Given the description of an element on the screen output the (x, y) to click on. 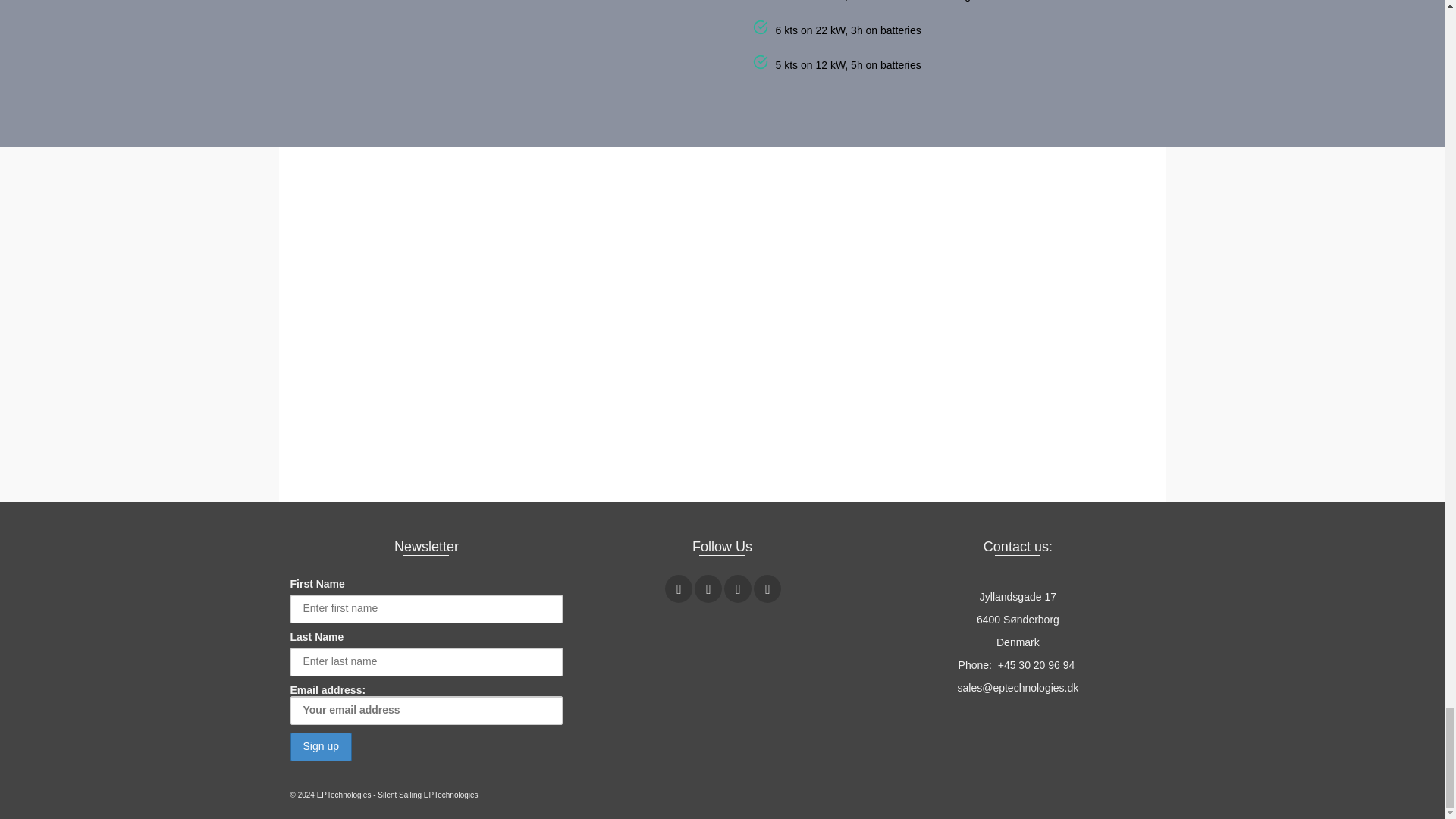
Sign up (319, 746)
Instagram (708, 588)
YouTube (737, 588)
Facebook (679, 588)
LinkedIn (767, 588)
